Given the description of an element on the screen output the (x, y) to click on. 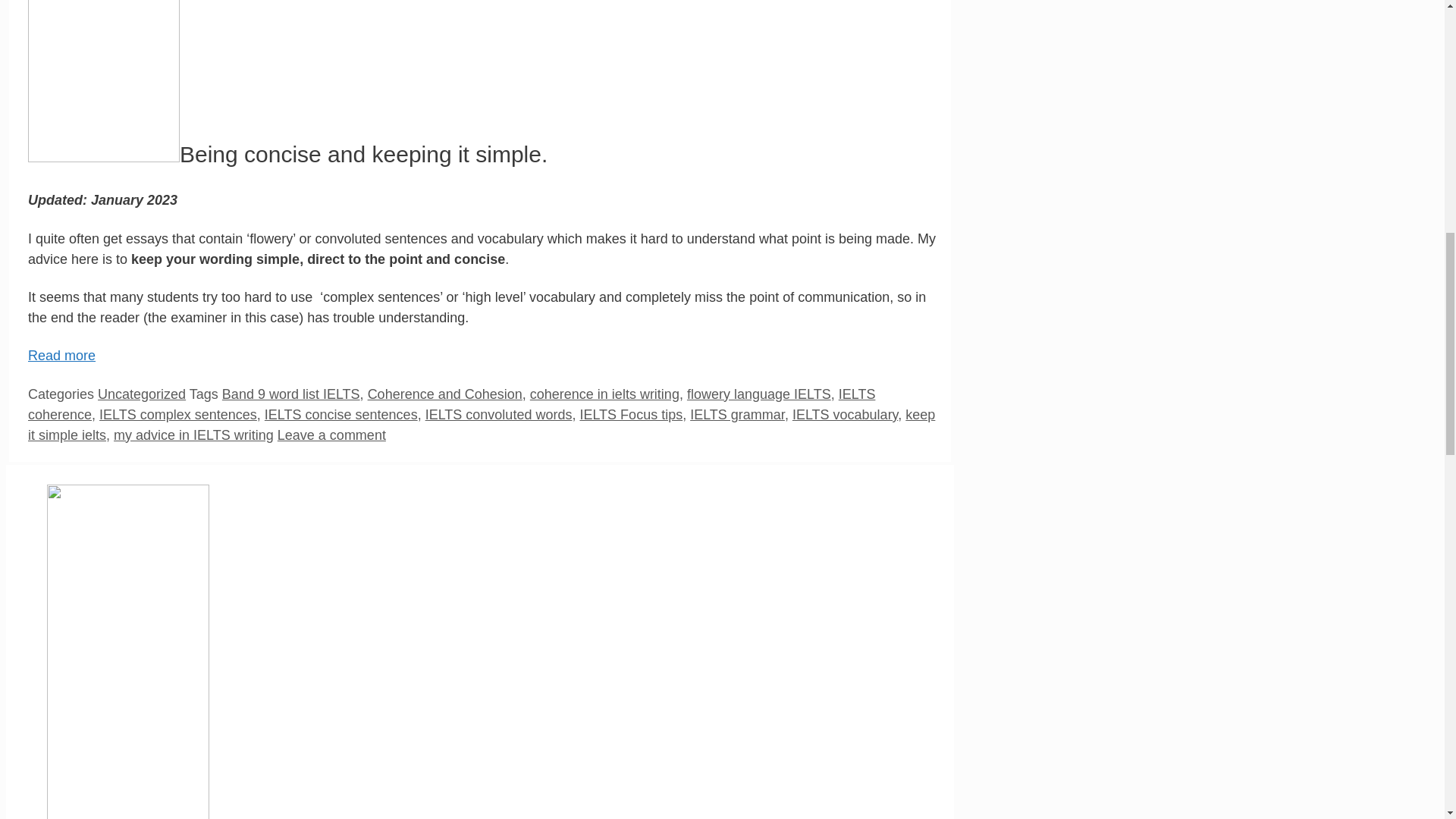
IELTS Writing: Keeping it simple (61, 355)
IELTS Focus tips (630, 414)
Read more (61, 355)
Coherence and Cohesion (445, 394)
IELTS convoluted words (498, 414)
IELTS complex sentences (178, 414)
IELTS coherence (451, 404)
IELTS concise sentences (340, 414)
Band 9 word list IELTS (290, 394)
IELTS vocabulary (845, 414)
coherence in ielts writing (604, 394)
keep it simple ielts (480, 425)
my advice in IELTS writing (193, 435)
Leave a comment (331, 435)
flowery language IELTS (759, 394)
